Given the description of an element on the screen output the (x, y) to click on. 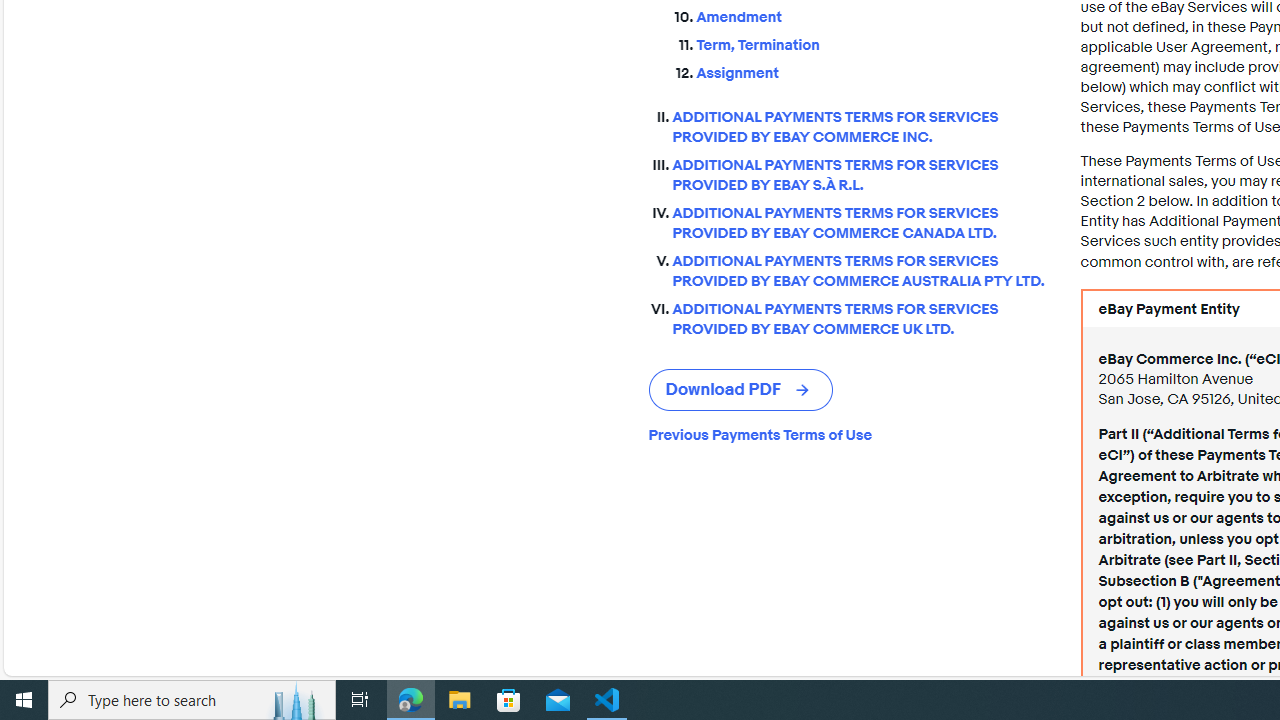
Term, Termination (872, 41)
Class: ski-btn__arrow (804, 390)
